Given the description of an element on the screen output the (x, y) to click on. 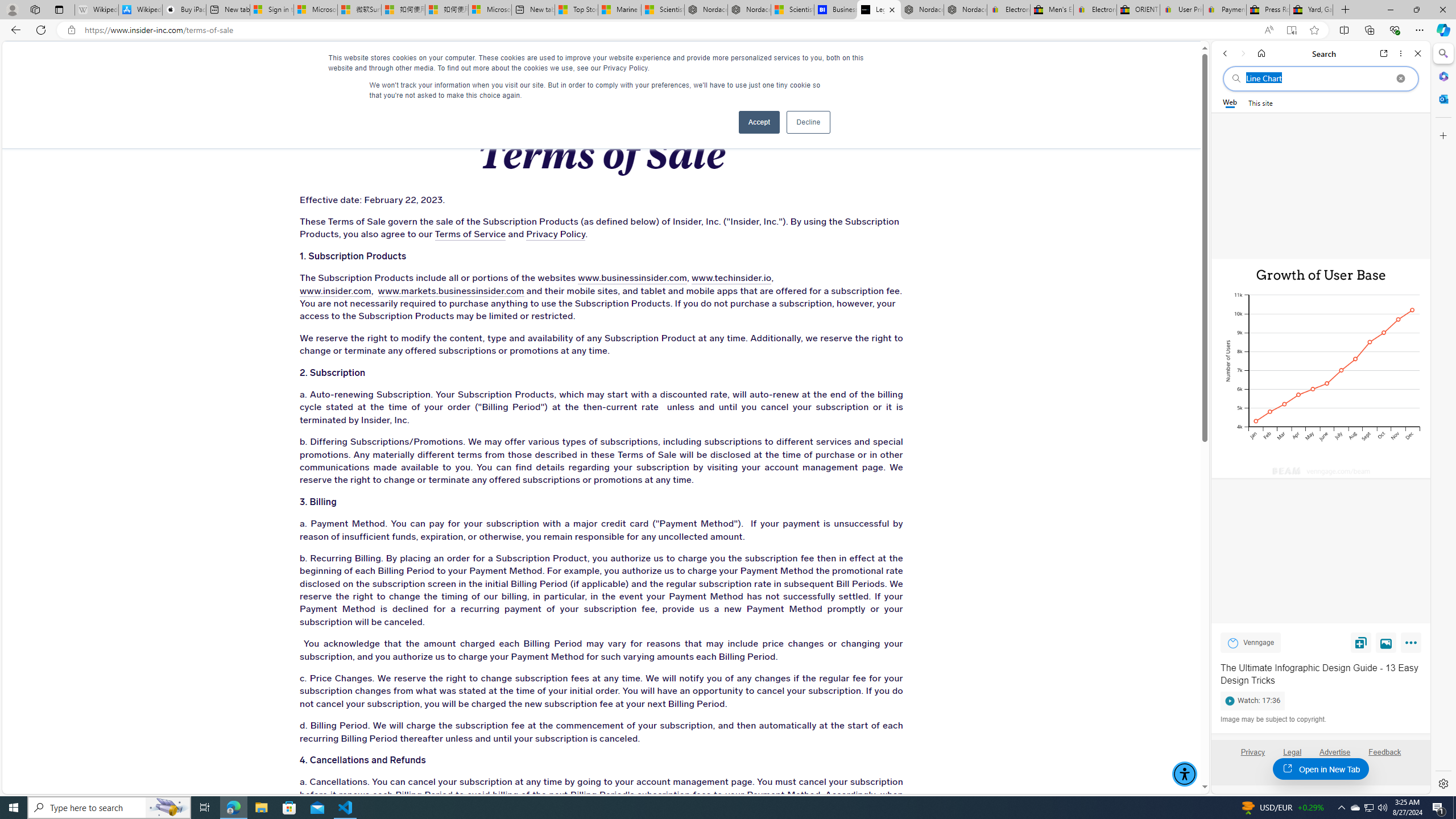
Decline (807, 121)
Open in New Tab (1321, 768)
